Given the description of an element on the screen output the (x, y) to click on. 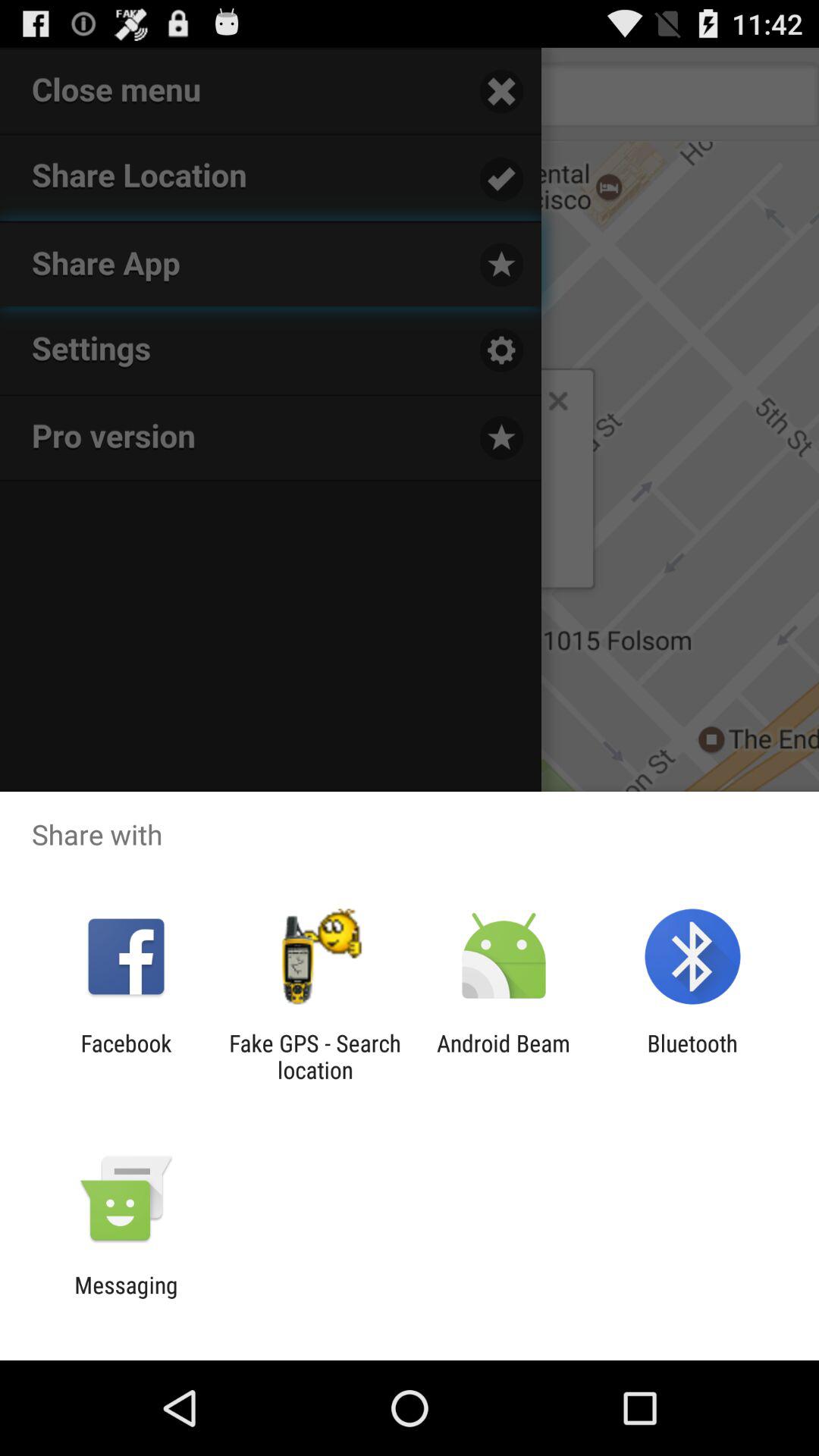
click icon next to android beam app (692, 1056)
